Given the description of an element on the screen output the (x, y) to click on. 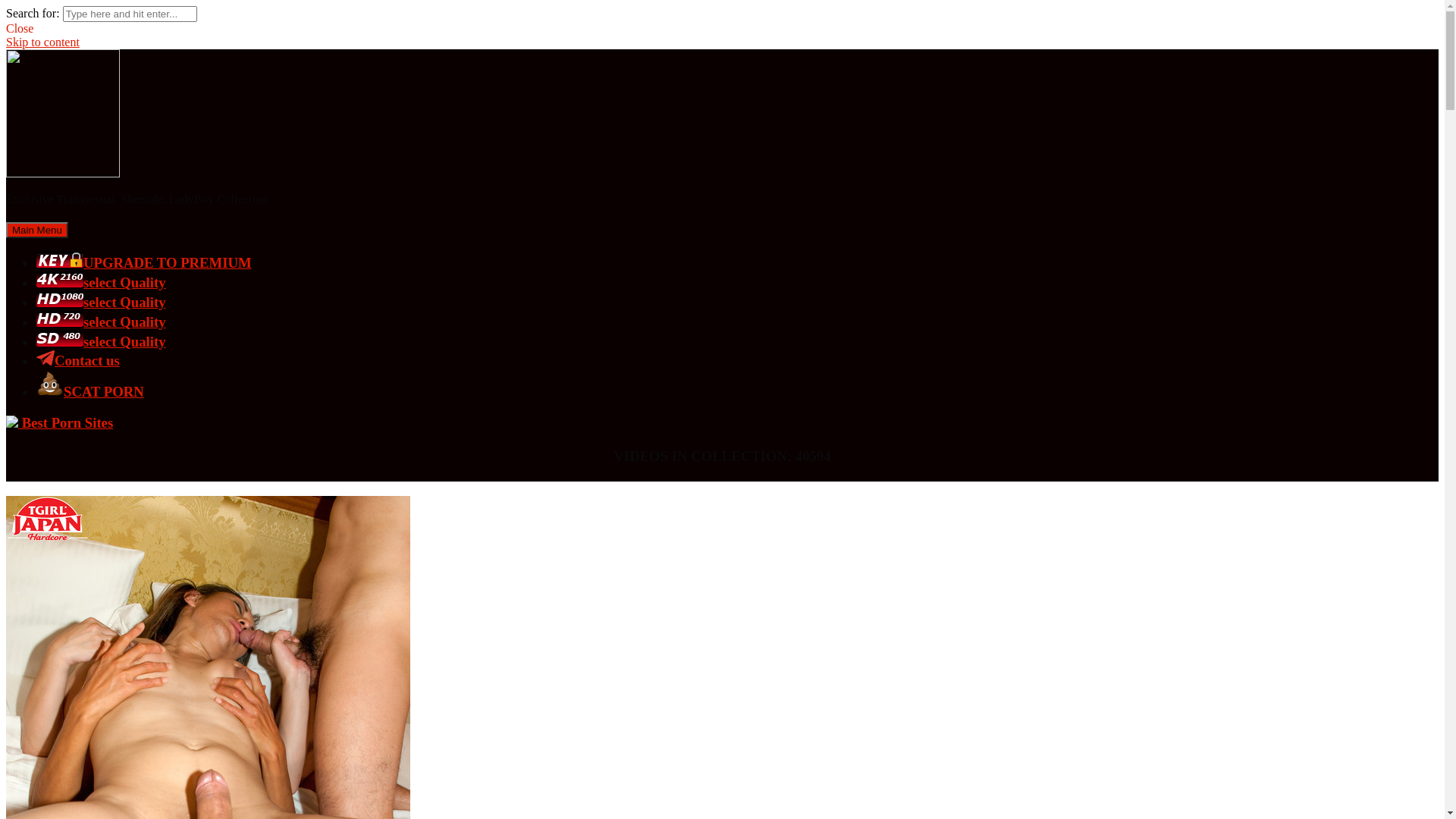
select Quality Element type: text (101, 282)
select Quality Element type: text (101, 341)
select Quality Element type: text (101, 321)
Main Menu Element type: text (37, 230)
UPGRADE TO PREMIUM Element type: text (143, 262)
Skip to content Element type: text (42, 41)
Close Element type: text (19, 27)
Best Porn Sites Element type: text (59, 422)
Contact us Element type: text (77, 360)
SCAT PORN Element type: text (90, 391)
select Quality Element type: text (101, 302)
